Given the description of an element on the screen output the (x, y) to click on. 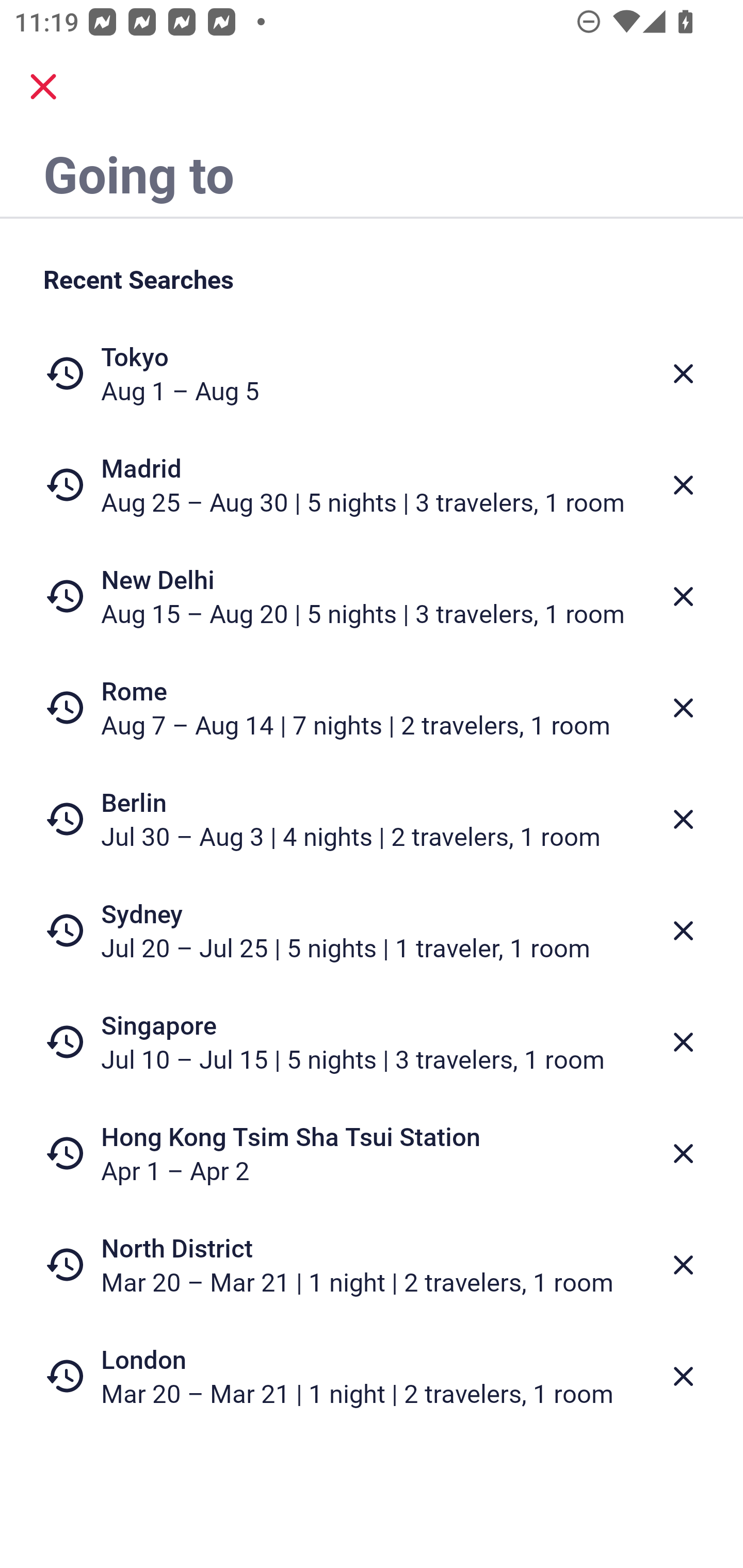
close. (43, 86)
Tokyo Aug 1 – Aug 5 (371, 373)
Delete from recent searches (683, 373)
Delete from recent searches (683, 485)
Delete from recent searches (683, 596)
Delete from recent searches (683, 707)
Delete from recent searches (683, 819)
Delete from recent searches (683, 930)
Delete from recent searches (683, 1041)
Hong Kong Tsim Sha Tsui Station Apr 1 – Apr 2 (371, 1152)
Delete from recent searches (683, 1153)
Delete from recent searches (683, 1265)
